Given the description of an element on the screen output the (x, y) to click on. 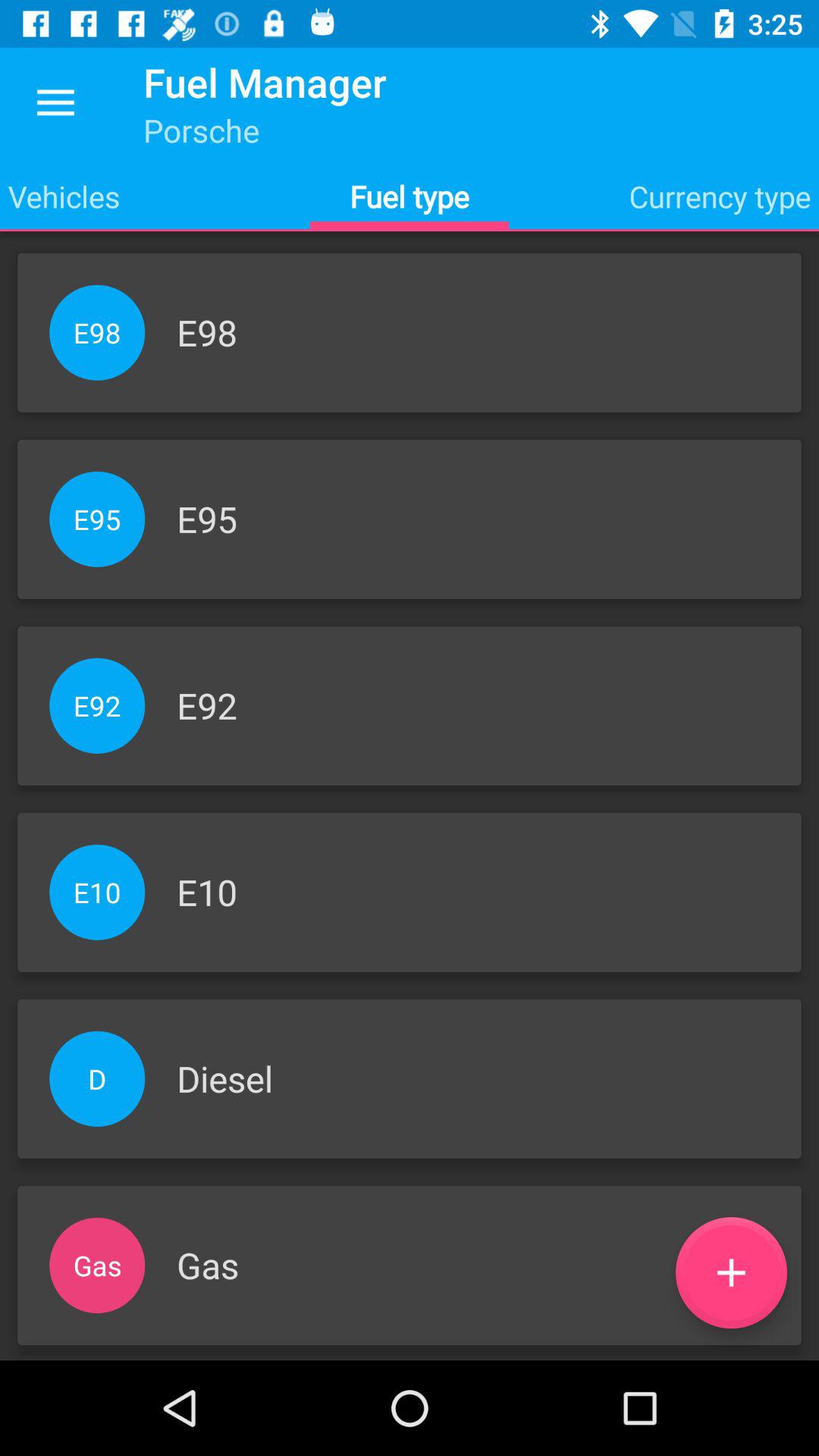
add in the option (731, 1272)
